Given the description of an element on the screen output the (x, y) to click on. 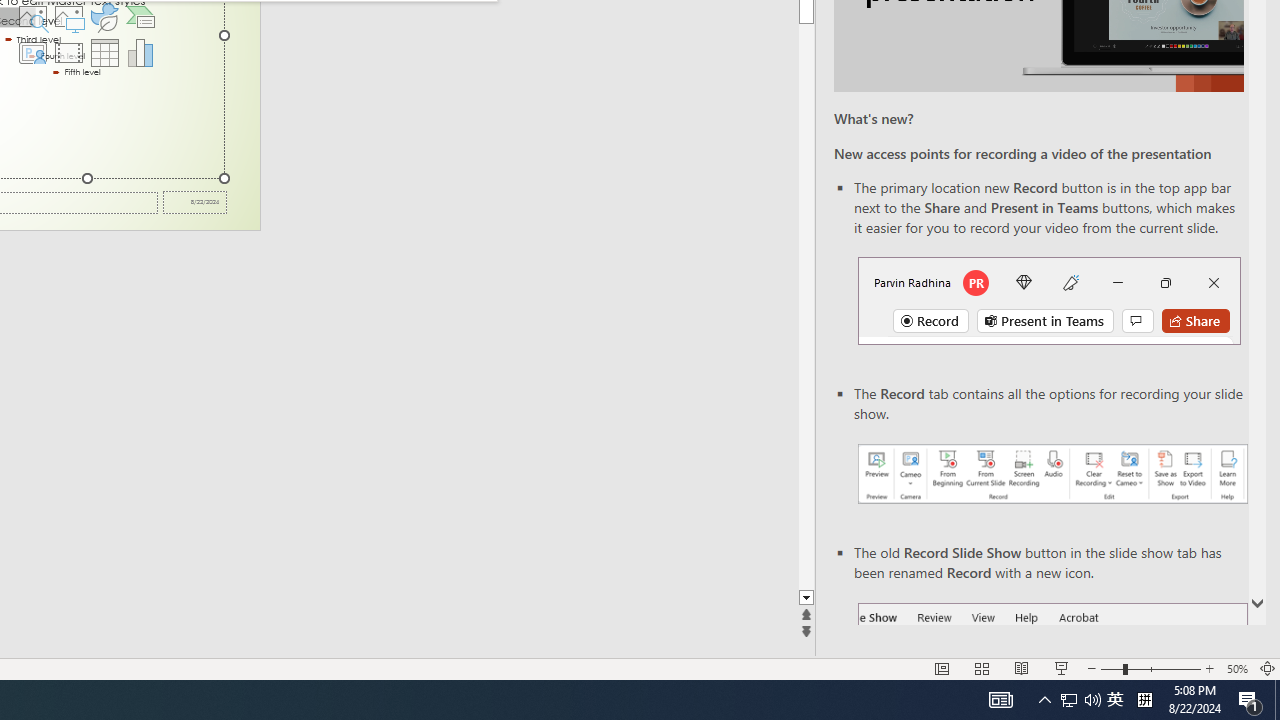
Record your presentations screenshot one (1052, 473)
Pictures (68, 16)
Stock Images (32, 16)
